Given the description of an element on the screen output the (x, y) to click on. 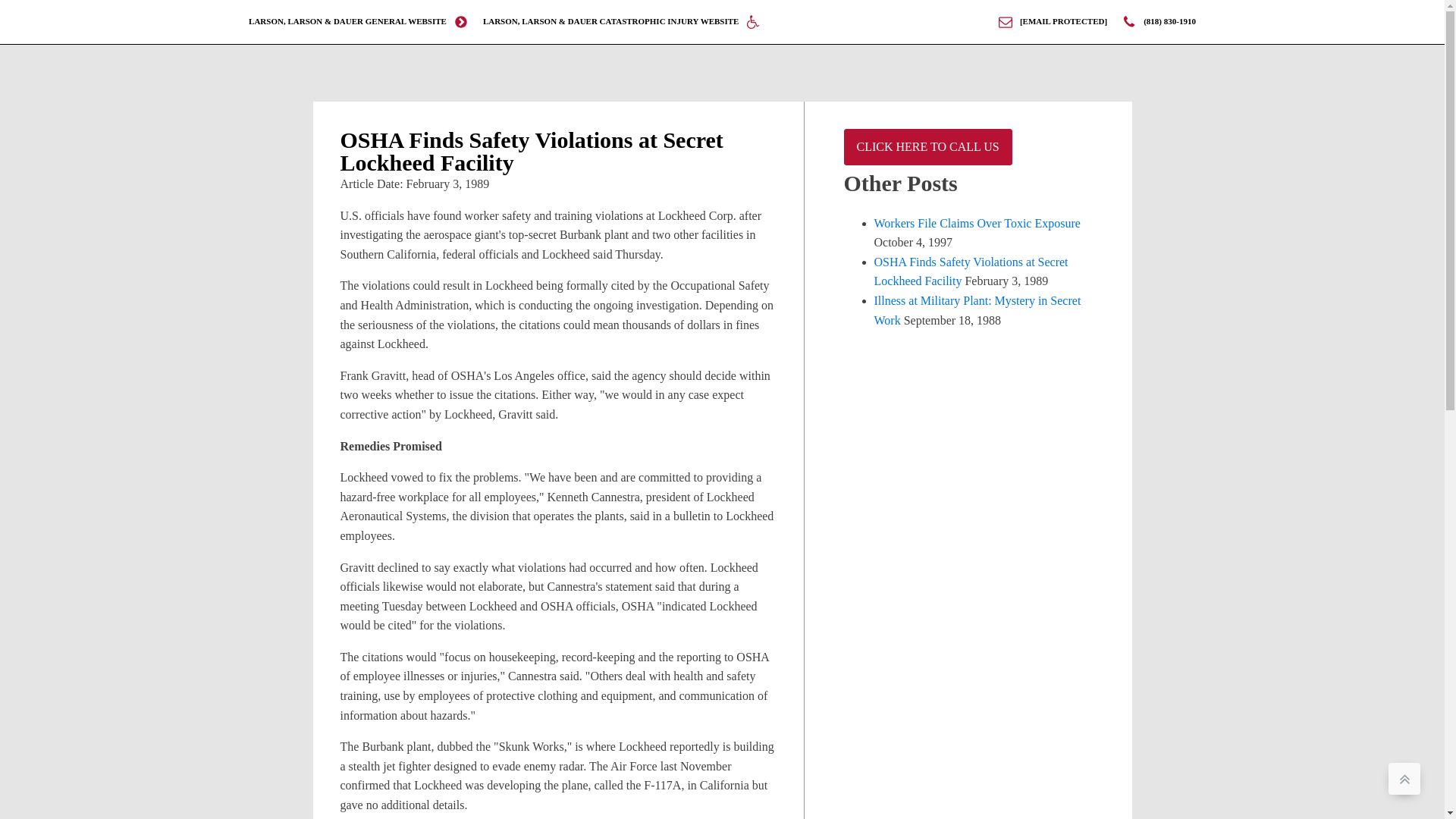
Workers File Claims Over Toxic Exposure (976, 223)
CLICK HERE TO CALL US (927, 146)
Illness at Military Plant: Mystery in Secret Work (976, 310)
OSHA Finds Safety Violations at Secret Lockheed Facility (970, 271)
